Given the description of an element on the screen output the (x, y) to click on. 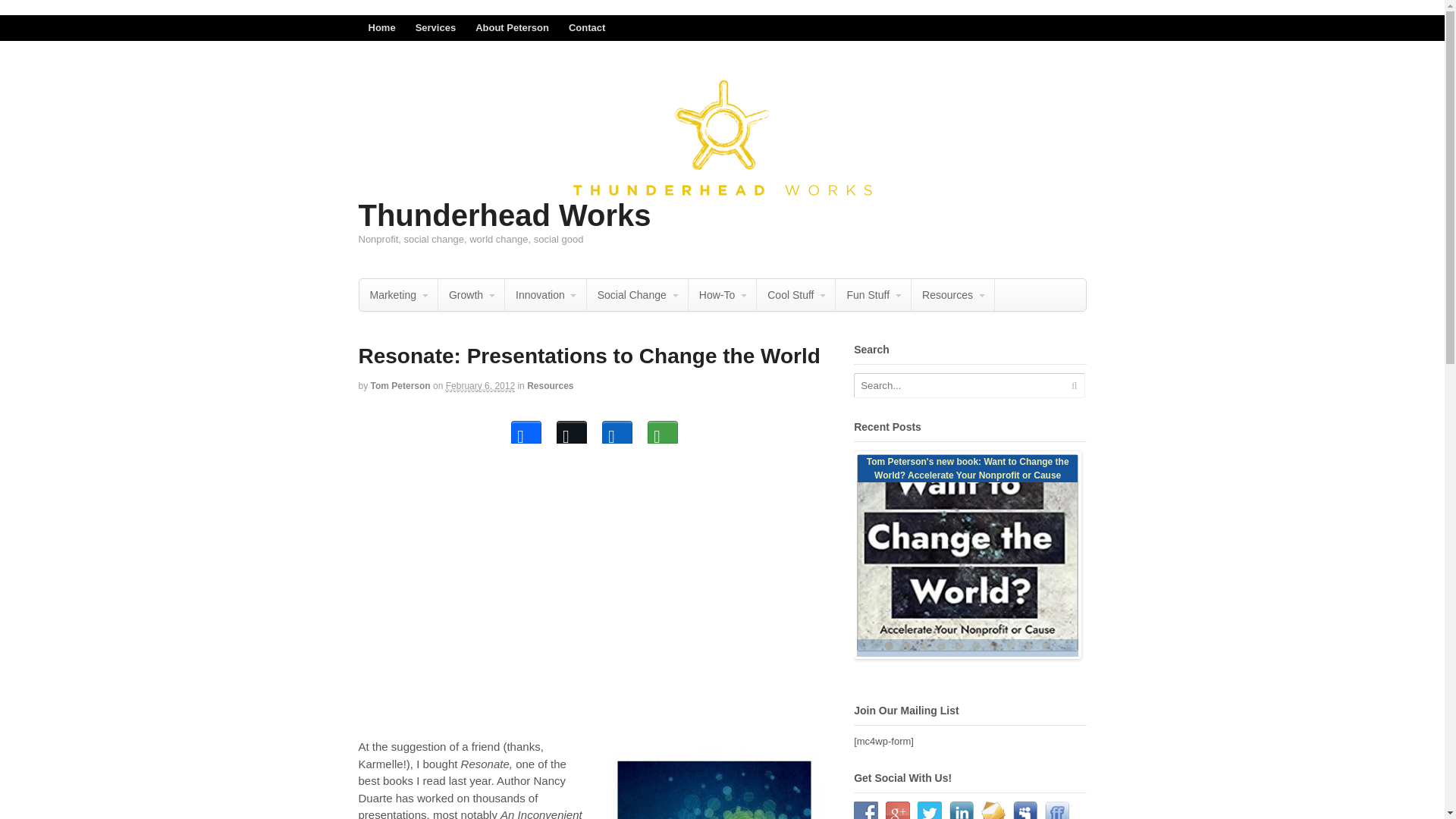
Posts by Tom Peterson (400, 385)
Thunderhead Works (504, 215)
2012-02-06T11:38:19-0600 (480, 386)
Contact (586, 27)
LinkedIn (617, 428)
Marketing (398, 295)
Search... (958, 385)
Social Change (636, 295)
Facebook (525, 428)
Innovation (545, 295)
